Given the description of an element on the screen output the (x, y) to click on. 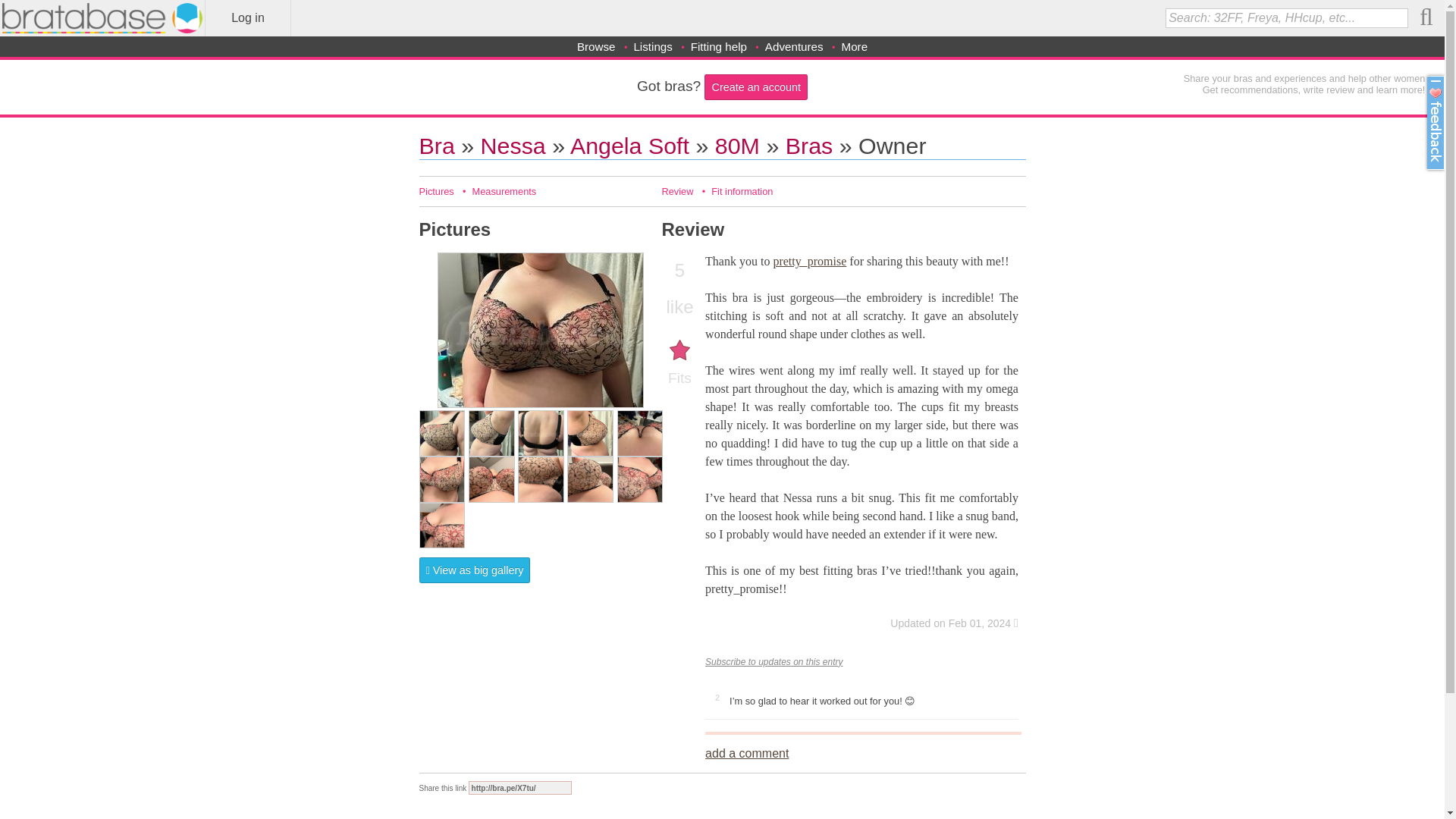
Pictures (435, 191)
Nessa (513, 145)
Bratabase (102, 18)
Nessa (513, 145)
Browse (595, 46)
Adventures (794, 46)
Find bras by brand (595, 46)
Create an account in Bratabase (756, 86)
Bra (436, 145)
Log in (247, 18)
Bras (809, 145)
Angela Soft (629, 145)
Start browsing (436, 145)
Public bras for 80M (809, 145)
Bra adventures (794, 46)
